Given the description of an element on the screen output the (x, y) to click on. 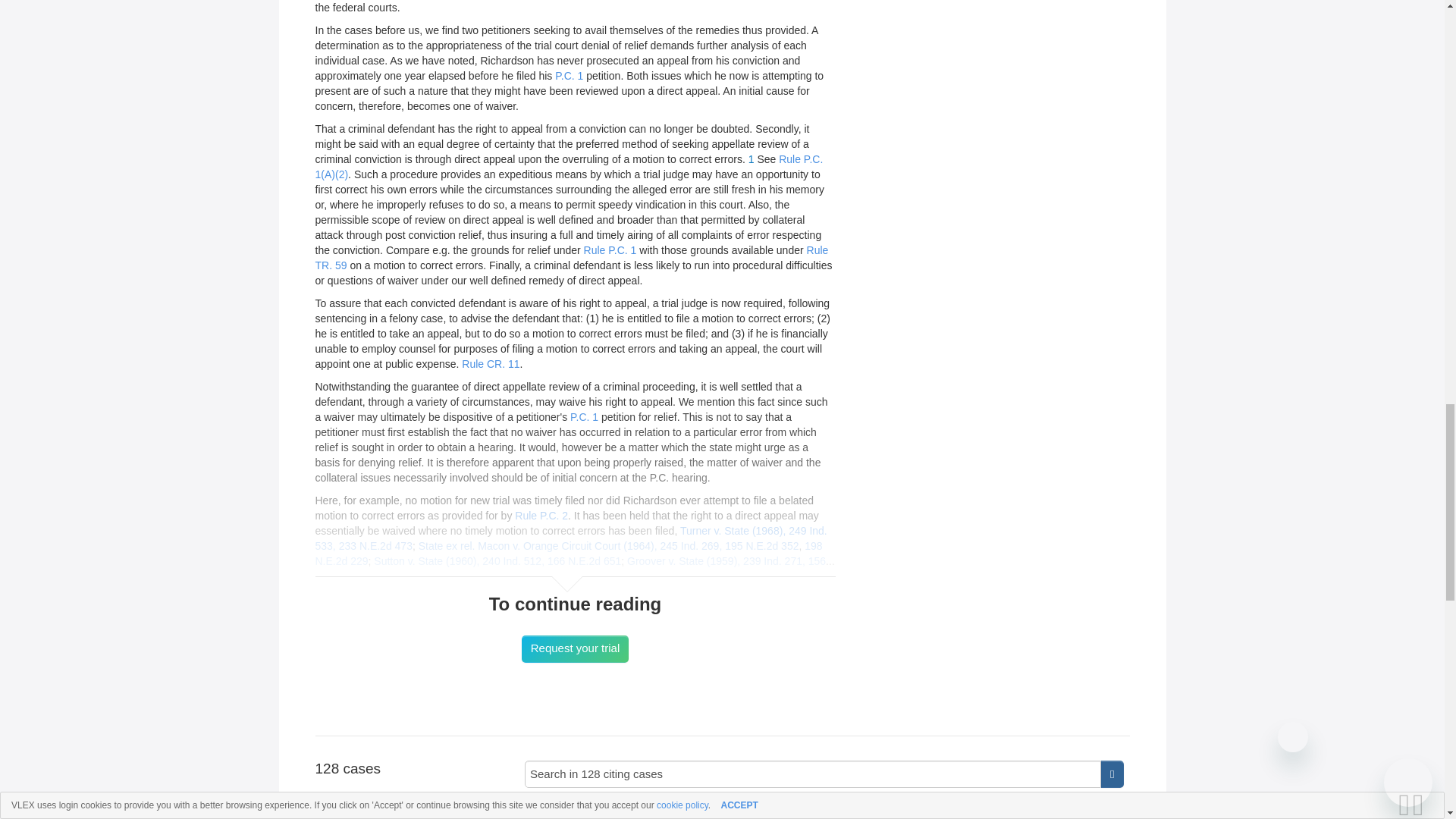
Wallace v. Duckworth (824, 810)
P.C. 1 (568, 75)
Rule P.C. 2 (541, 515)
Rule CR. 11 (490, 363)
Rule TR. 59 (571, 257)
P.C. 1 (584, 417)
198 N.E.2d 229 (568, 553)
Wallace v. Duckworth (824, 810)
Rule P.C. 1 (610, 250)
